Given the description of an element on the screen output the (x, y) to click on. 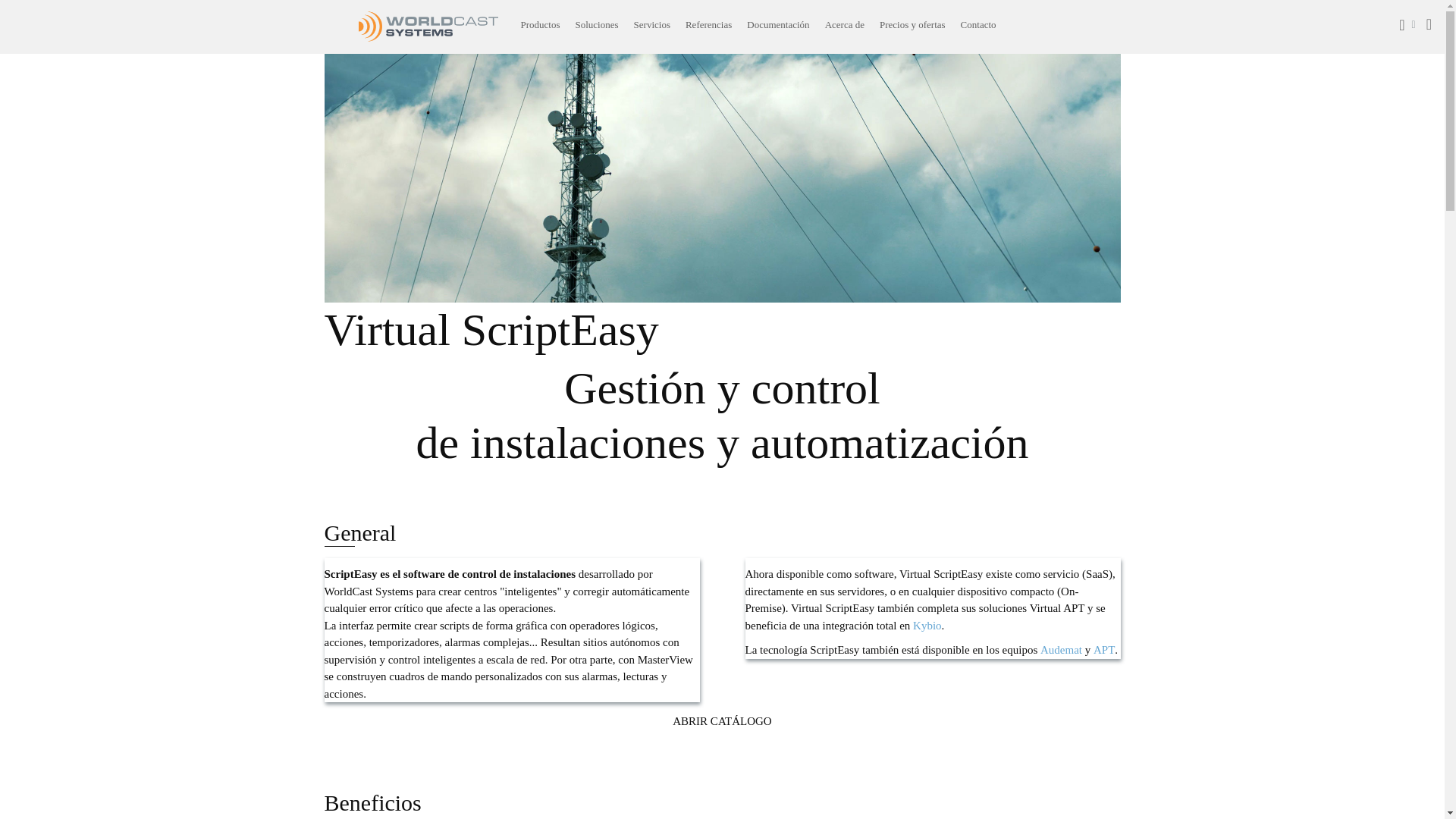
Contacto (978, 24)
Referencias (708, 24)
Servicios (652, 24)
Precios y ofertas (912, 24)
Soluciones (596, 24)
Acerca de (844, 24)
Productos (539, 24)
